Given the description of an element on the screen output the (x, y) to click on. 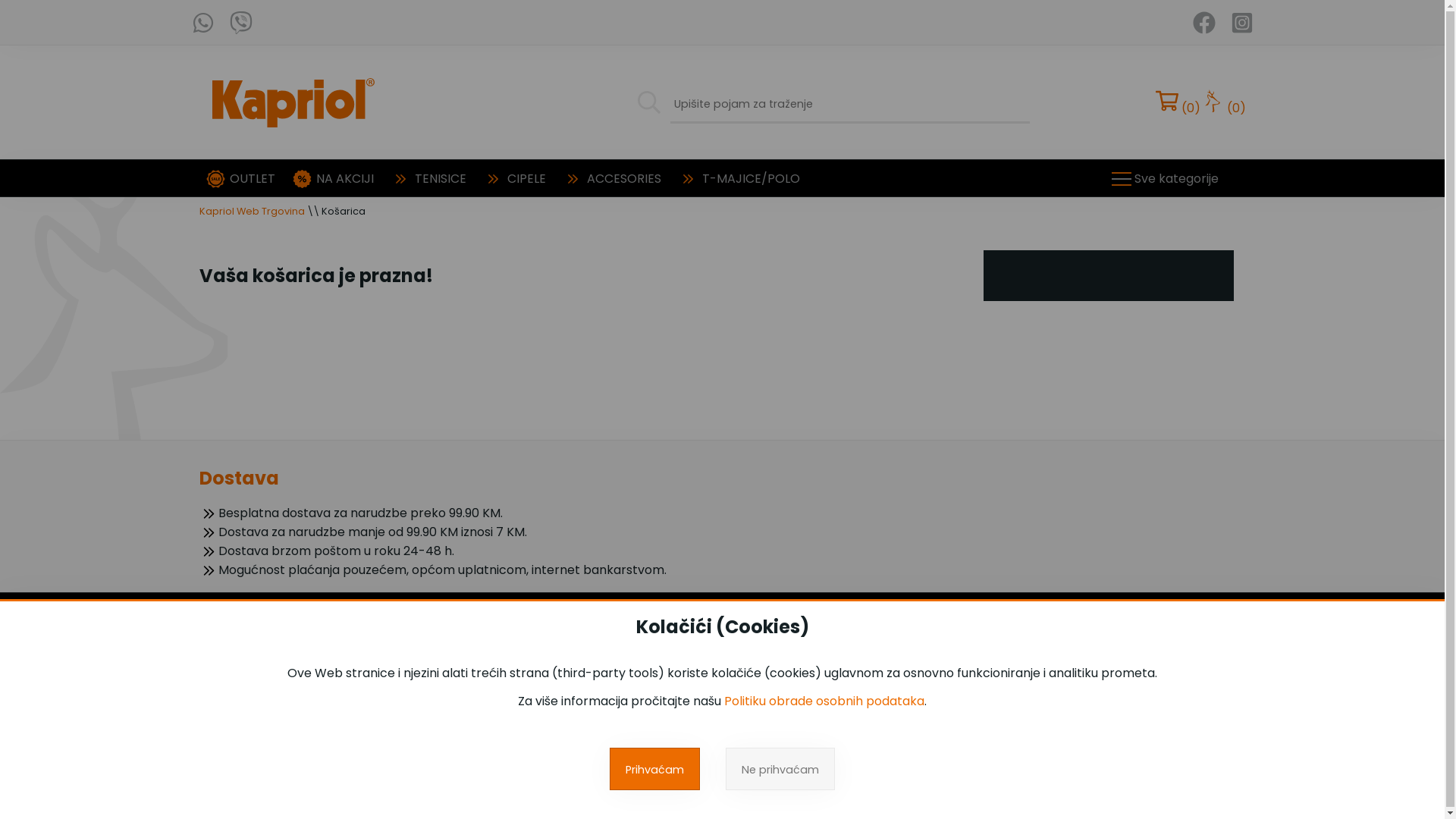
facebook Element type: hover (1203, 21)
ACCESORIES Element type: text (623, 178)
whatsup Element type: hover (202, 21)
(0) Element type: text (1177, 102)
logo Element type: hover (293, 101)
CIPELE Element type: text (525, 178)
Kapriol Web Trgovina Element type: text (251, 210)
Viber Element type: text (1033, 683)
TENISICE Element type: text (439, 178)
Politiku obrade osobnih podataka Element type: text (824, 700)
(0) Element type: text (1223, 102)
NA AKCIJI Element type: text (344, 178)
Naslovna Element type: text (684, 665)
T-MAJICE/POLO Element type: text (751, 178)
Kontakt Element type: text (679, 692)
viber Element type: hover (240, 21)
logo Element type: hover (293, 706)
WhatsApp Element type: text (1045, 657)
instagram Element type: hover (1241, 21)
OUTLET Element type: text (251, 178)
O nama Element type: text (681, 718)
